Given the description of an element on the screen output the (x, y) to click on. 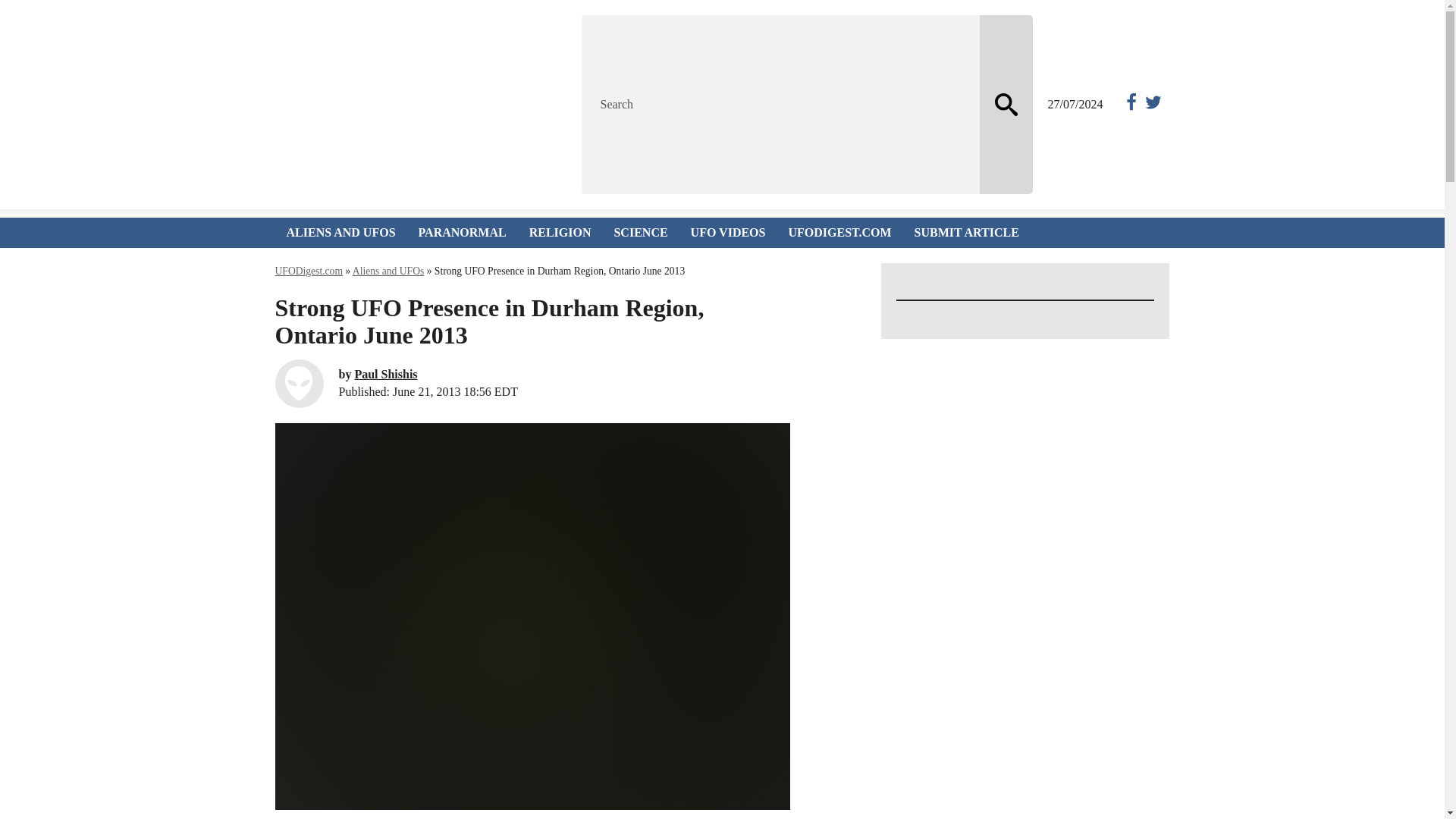
Facebook (1129, 104)
UFO Digest (409, 104)
Twitter (1150, 104)
Search (779, 104)
